Given the description of an element on the screen output the (x, y) to click on. 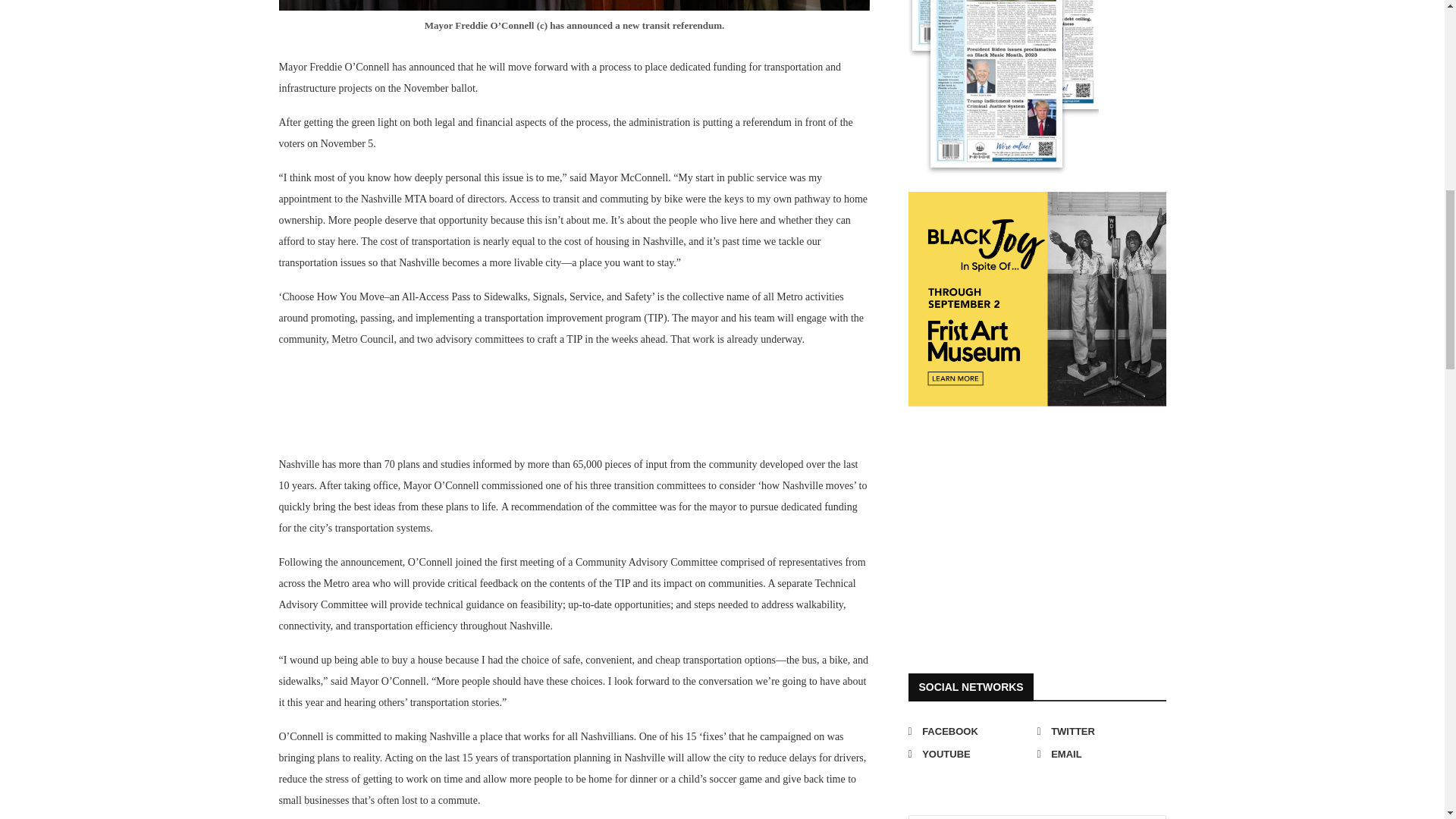
advertisement (1021, 524)
